Given the description of an element on the screen output the (x, y) to click on. 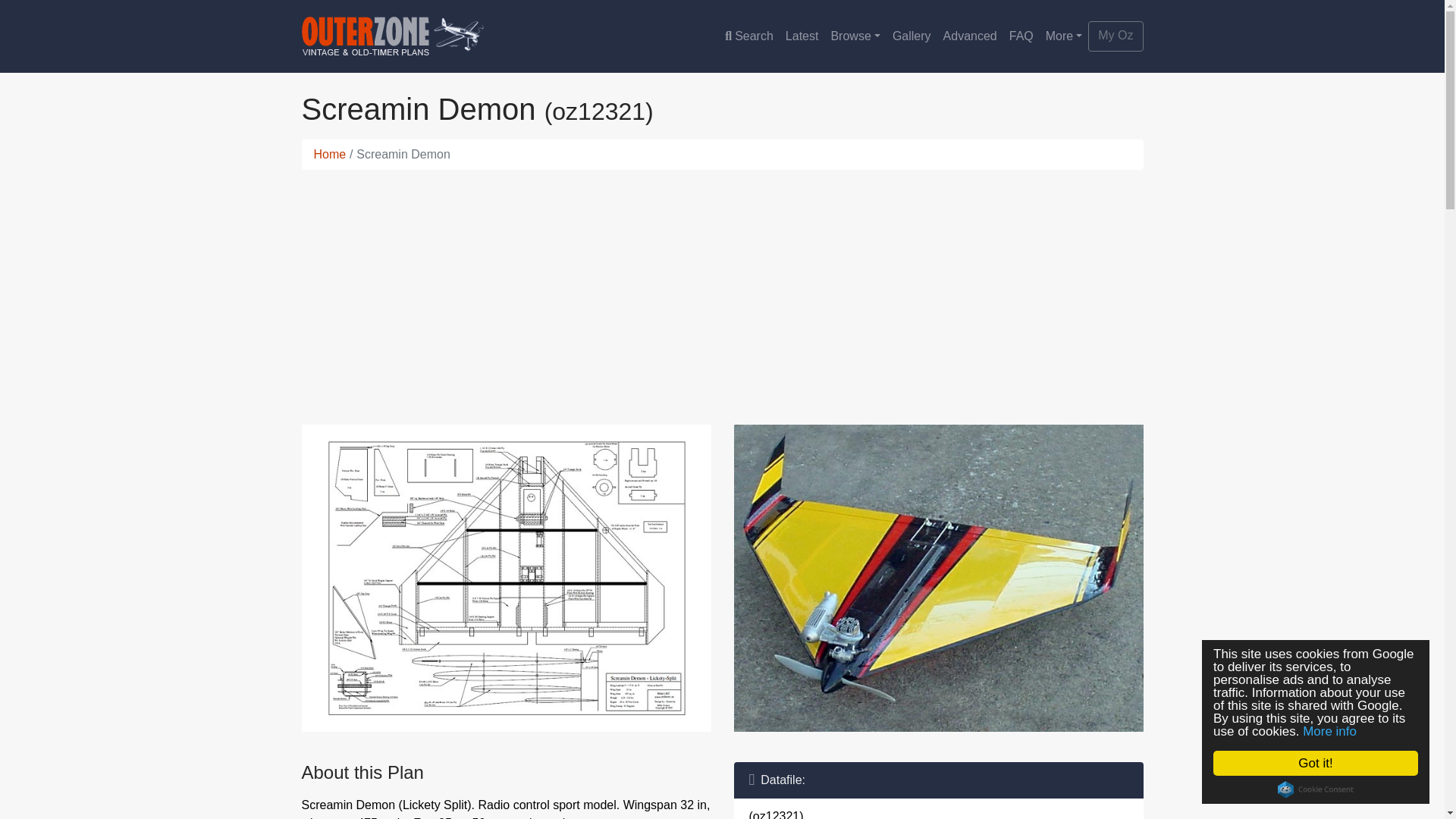
More info (1343, 730)
My Oz (1114, 36)
Home (330, 154)
Advanced (970, 36)
Search (748, 36)
Cookie Consent plugin for the EU cookie law (1327, 789)
Browse (854, 36)
Got it! (1329, 763)
More (1064, 36)
Latest (801, 36)
Gallery (911, 36)
FAQ (1021, 36)
